Given the description of an element on the screen output the (x, y) to click on. 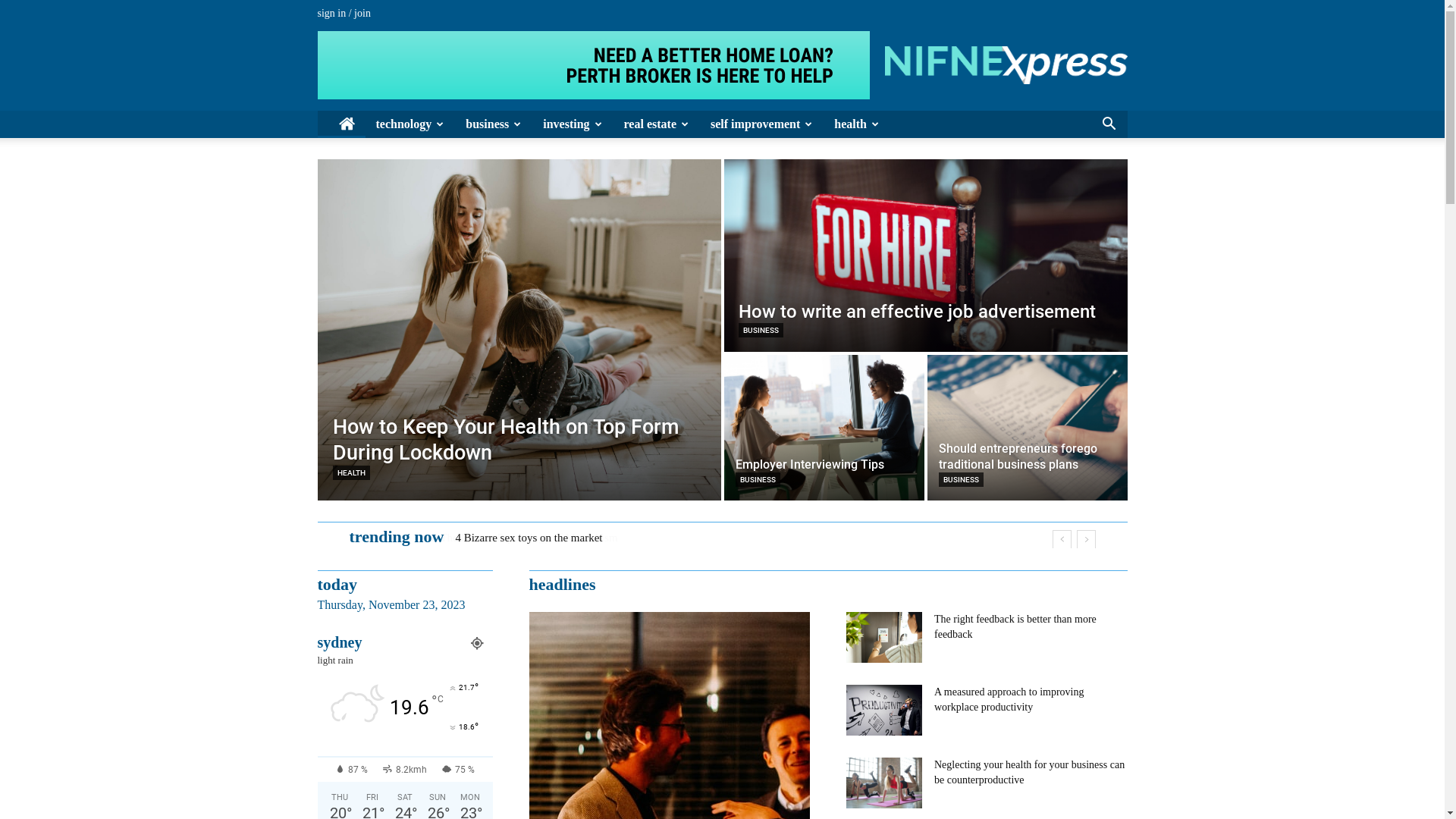
health Element type: text (856, 124)
The right feedback is better than more feedback Element type: text (1015, 626)
Should entrepreneurs forego traditional business plans Element type: hover (1026, 427)
Employer Interviewing Tips Element type: hover (823, 427)
business Element type: text (493, 124)
Search Element type: text (1085, 180)
Employer Interviewing Tips Element type: text (809, 464)
sign in / join Element type: text (343, 12)
technology Element type: text (410, 124)
How to write an effective job advertisement Element type: text (916, 311)
How to Keep Your Health on Top Form During Lockdown Element type: hover (518, 329)
BUSINESS Element type: text (960, 479)
BUSINESS Element type: text (760, 330)
Should entrepreneurs forego traditional business plans Element type: text (1017, 456)
Weird new sex toys coming into the market Element type: text (553, 537)
investing Element type: text (572, 124)
BUSINESS Element type: text (757, 479)
The right feedback is better than more feedback Element type: hover (884, 636)
How to write an effective job advertisement Element type: hover (924, 255)
self improvement Element type: text (761, 124)
real estate Element type: text (656, 124)
A measured approach to improving workplace productivity Element type: hover (884, 709)
A measured approach to improving workplace productivity Element type: text (1009, 699)
How to Keep Your Health on Top Form During Lockdown Element type: text (505, 439)
HEALTH Element type: text (350, 472)
